Given the description of an element on the screen output the (x, y) to click on. 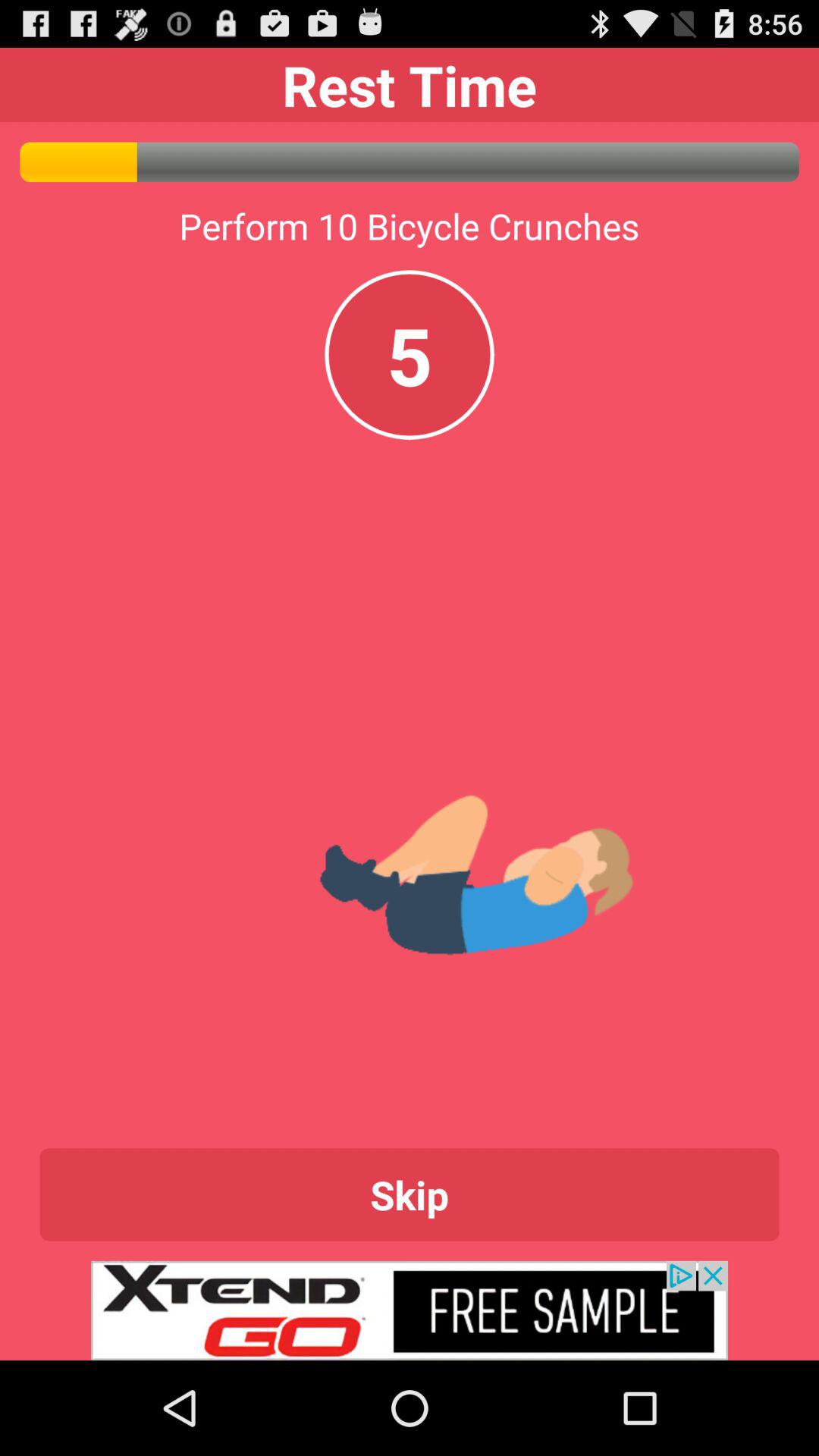
clickable advertisement (409, 1310)
